Given the description of an element on the screen output the (x, y) to click on. 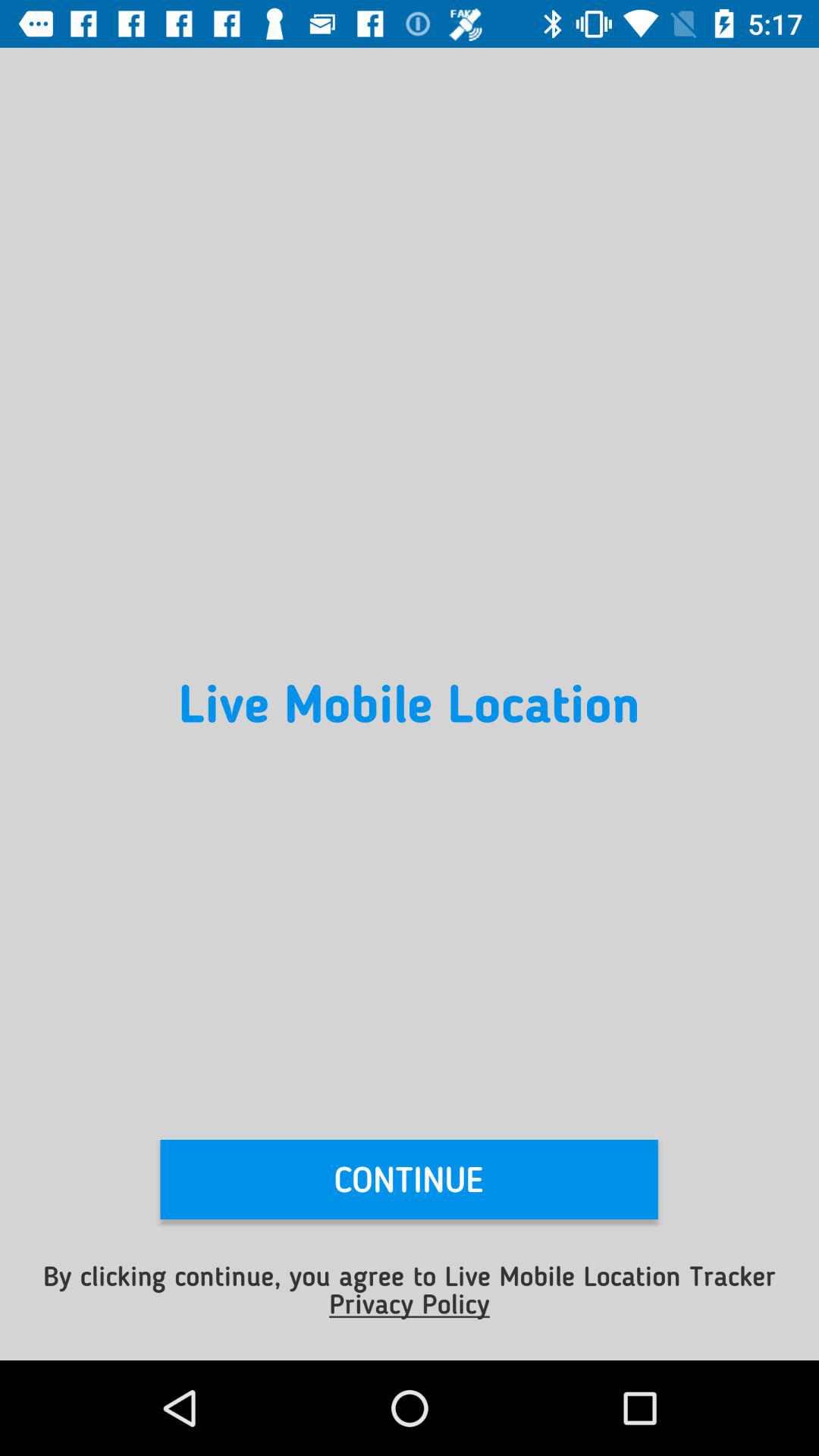
tap the item below continue item (409, 1289)
